Given the description of an element on the screen output the (x, y) to click on. 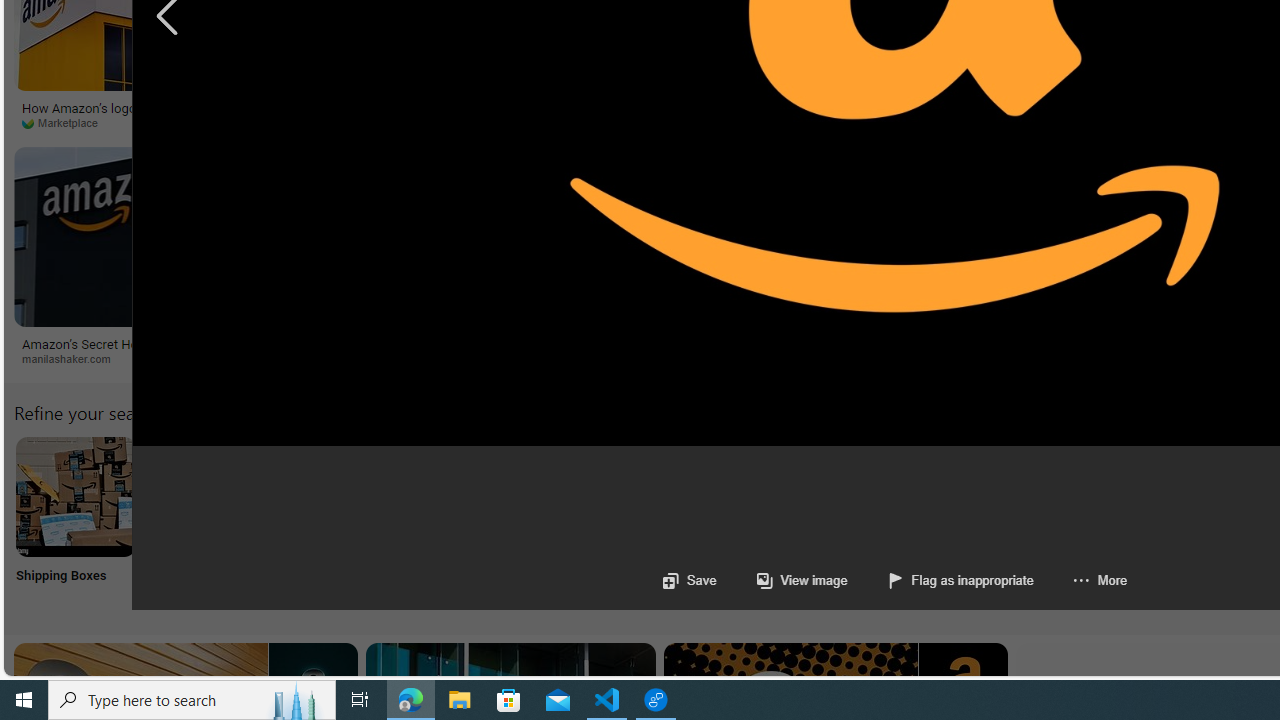
Marketplace (66, 121)
Amazonprotothema.grSave (824, 260)
manilashaker.com (73, 358)
More (1099, 580)
Wish List (999, 521)
Jobs Near Me (604, 521)
View image (801, 580)
Amazon Shipping Boxes (75, 496)
protothema.gr (719, 358)
Long Island Press (470, 123)
Long Island Press (408, 121)
Amazon Online Shopping Search (207, 496)
Save (688, 580)
